Given the description of an element on the screen output the (x, y) to click on. 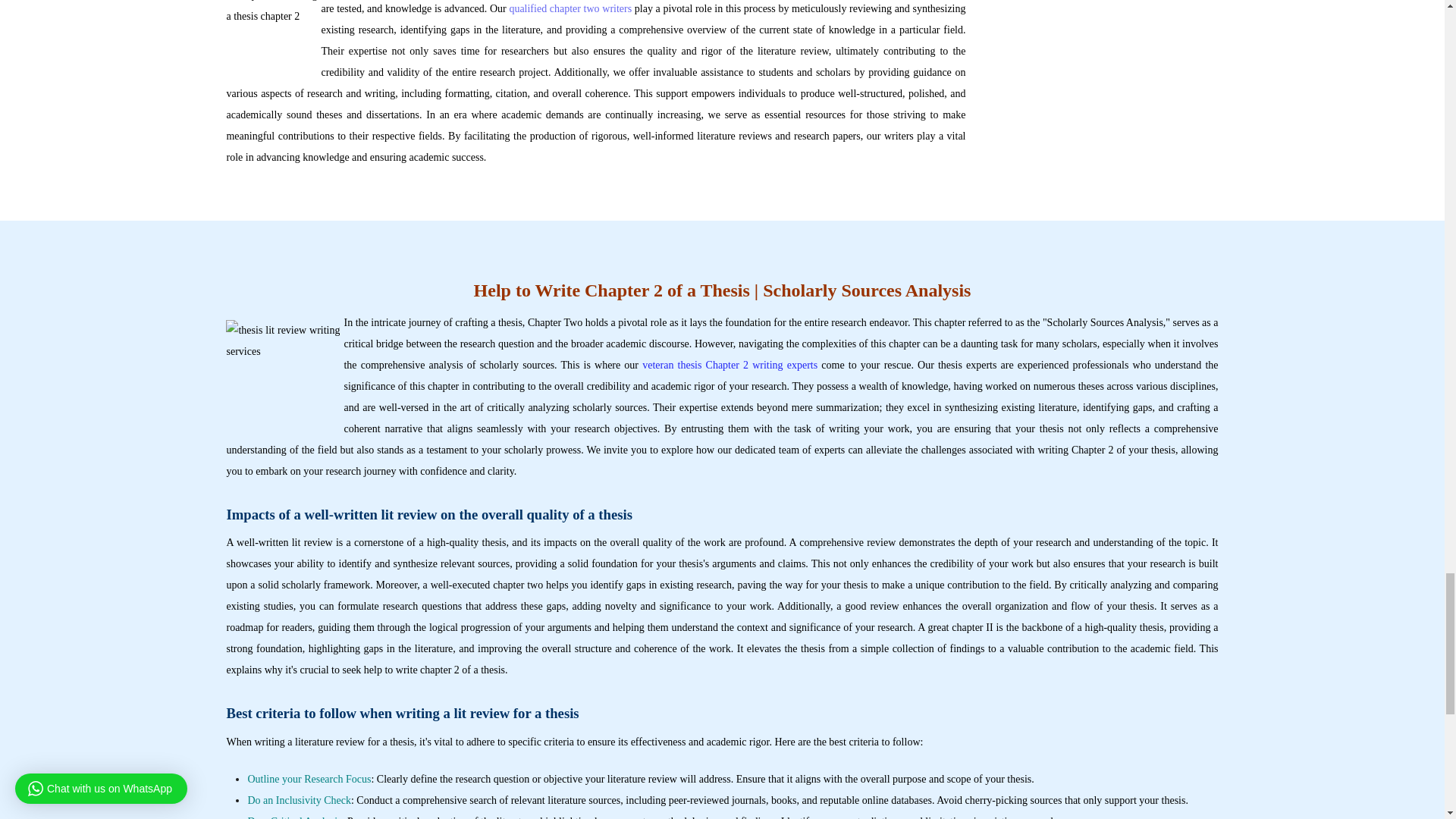
qualified chapter two writers (569, 8)
